Given the description of an element on the screen output the (x, y) to click on. 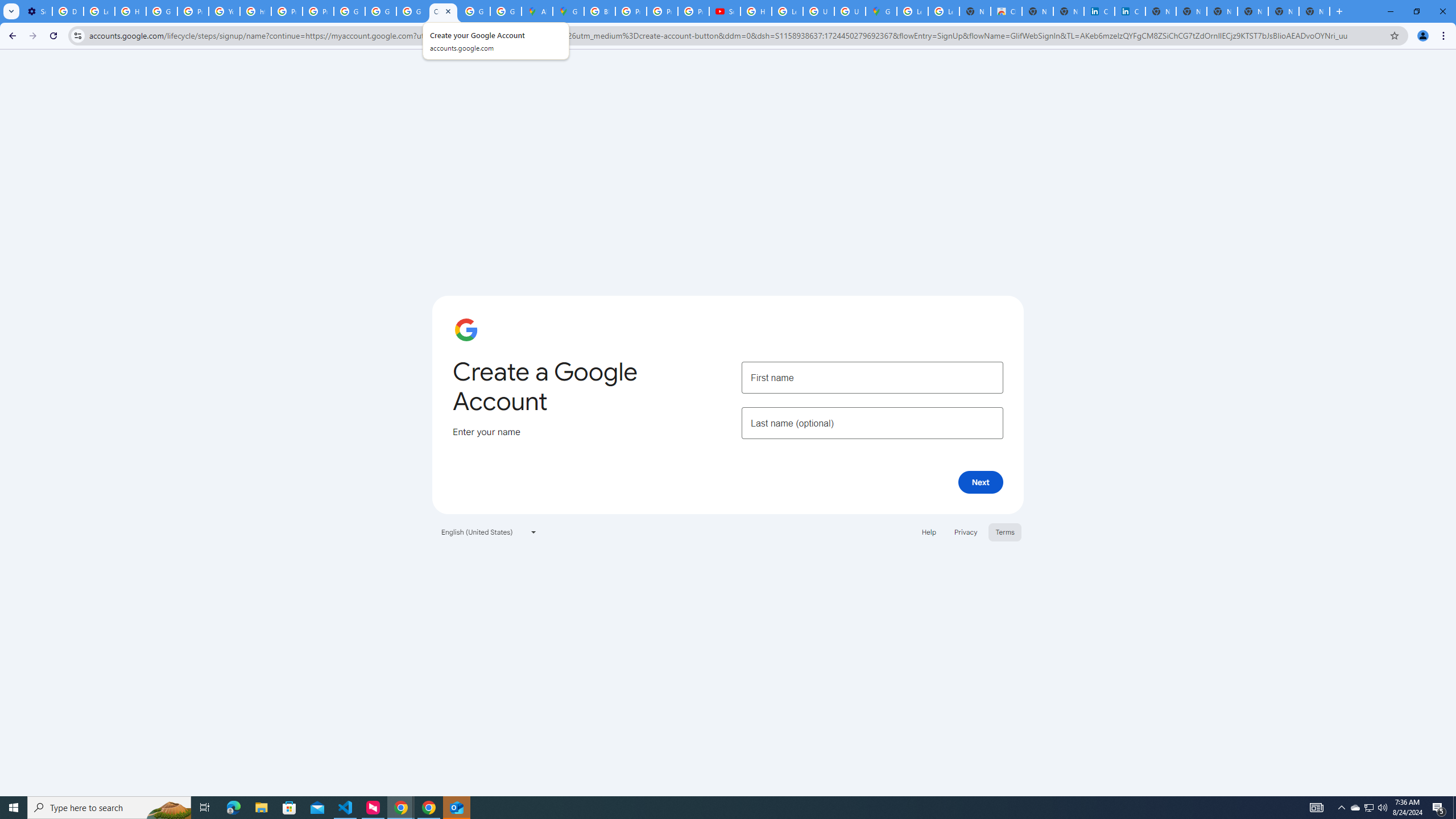
Privacy Help Center - Policies Help (662, 11)
English (United States) (489, 531)
Cookie Policy | LinkedIn (1098, 11)
Google Maps (881, 11)
Privacy Help Center - Policies Help (192, 11)
YouTube (223, 11)
